Given the description of an element on the screen output the (x, y) to click on. 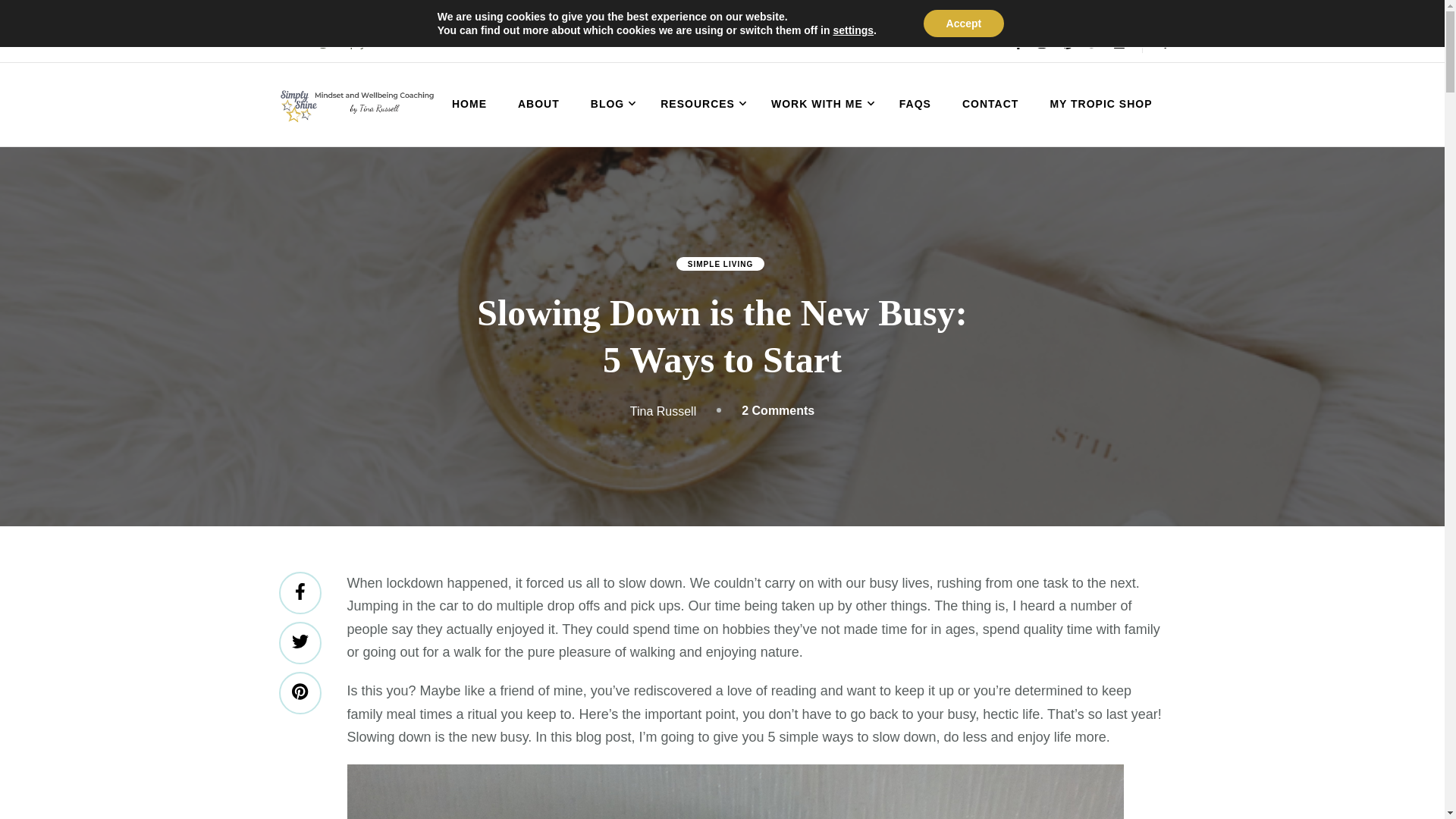
MY TROPIC SHOP (1100, 104)
BLOG (609, 104)
ABOUT (538, 104)
WORK WITH ME (819, 104)
RESOURCES (700, 104)
CONTACT (990, 104)
FAQS (914, 104)
Simply Shine (375, 139)
HOME (469, 104)
